Given the description of an element on the screen output the (x, y) to click on. 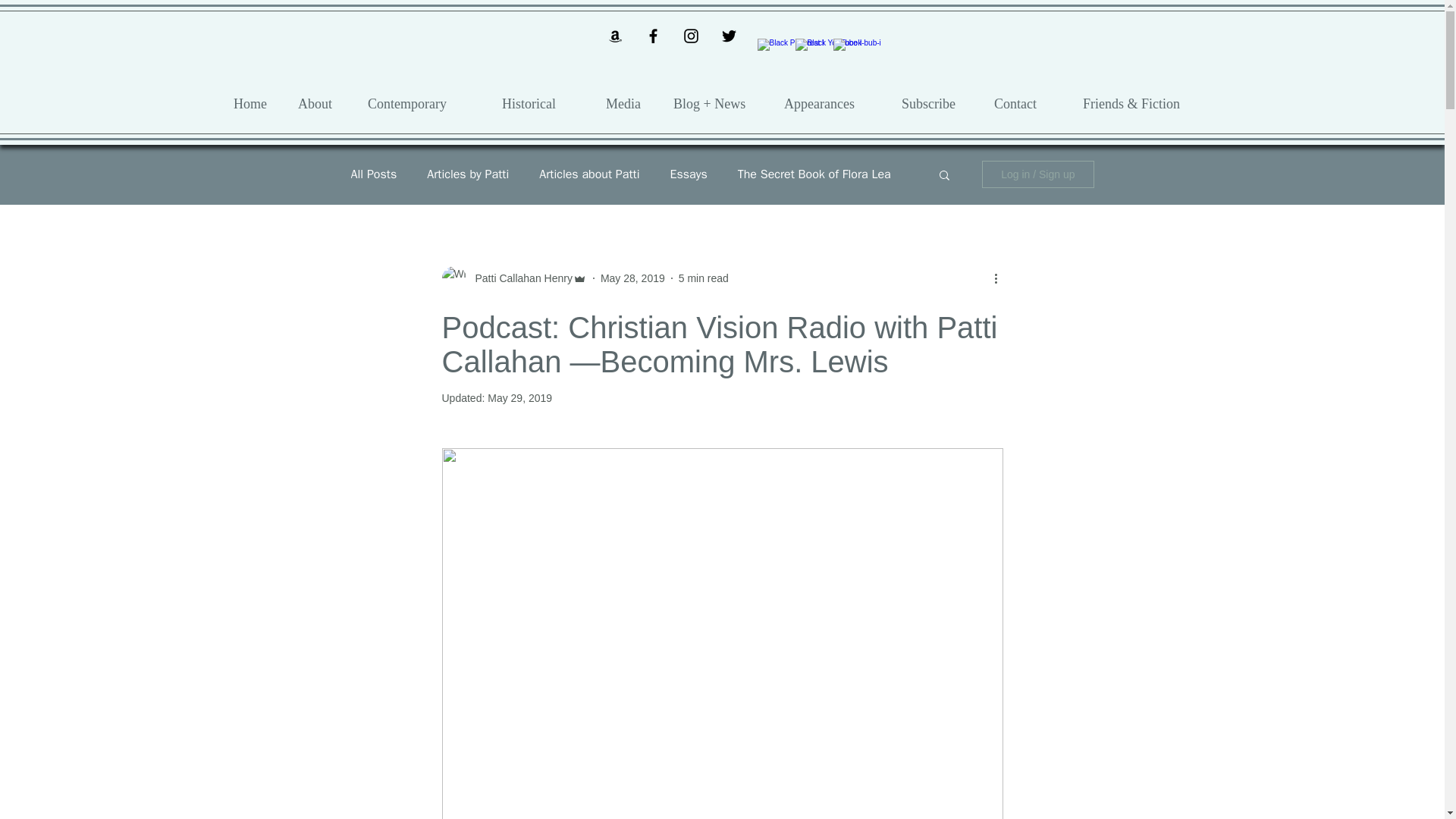
Patti Callahan Henry  (518, 277)
Historical (542, 103)
5 min read (703, 277)
May 28, 2019 (632, 277)
Contemporary (423, 103)
May 29, 2019 (519, 398)
Home (254, 103)
About (321, 103)
Media (628, 103)
